Given the description of an element on the screen output the (x, y) to click on. 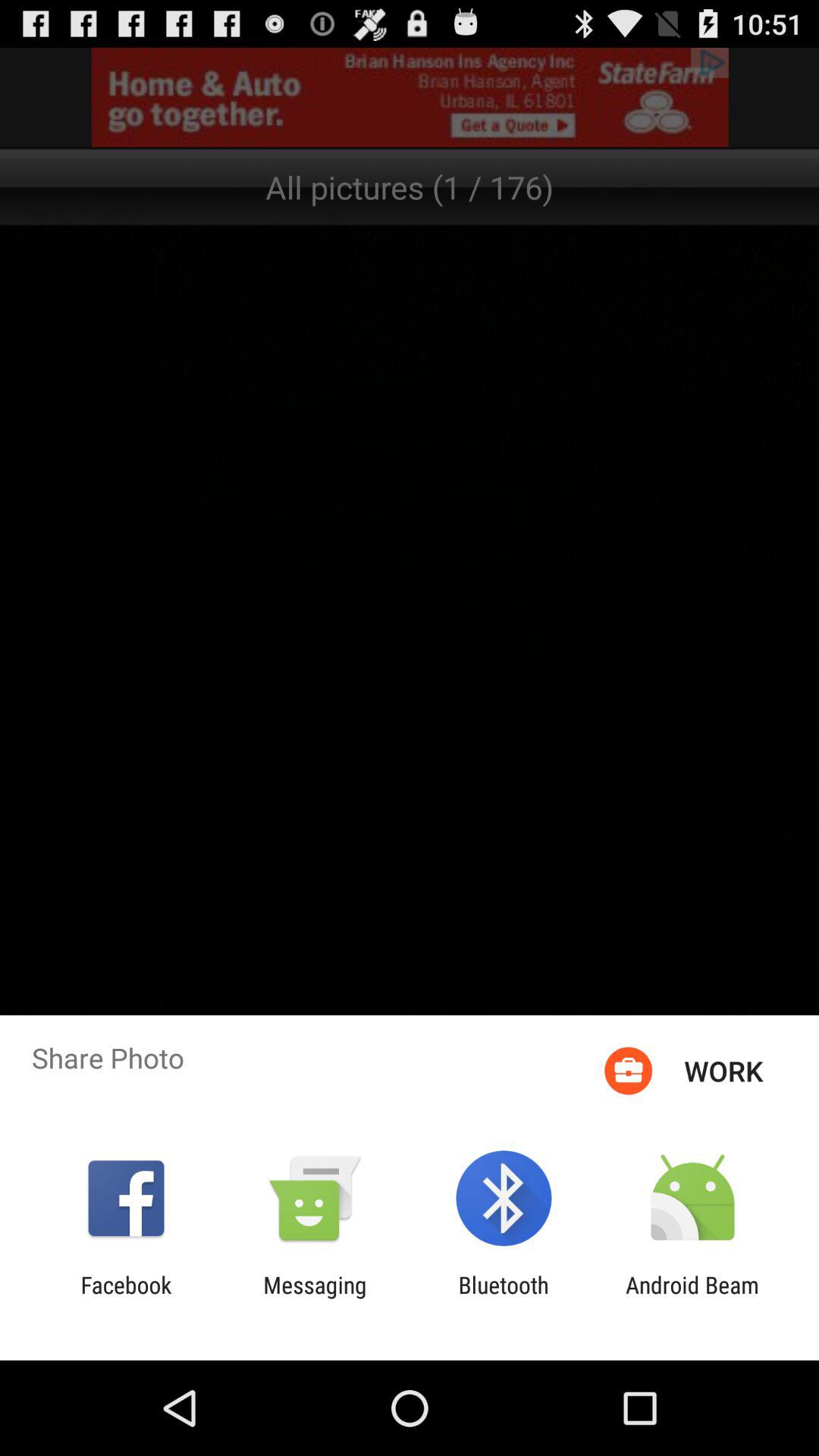
click the icon to the right of the bluetooth icon (692, 1298)
